Given the description of an element on the screen output the (x, y) to click on. 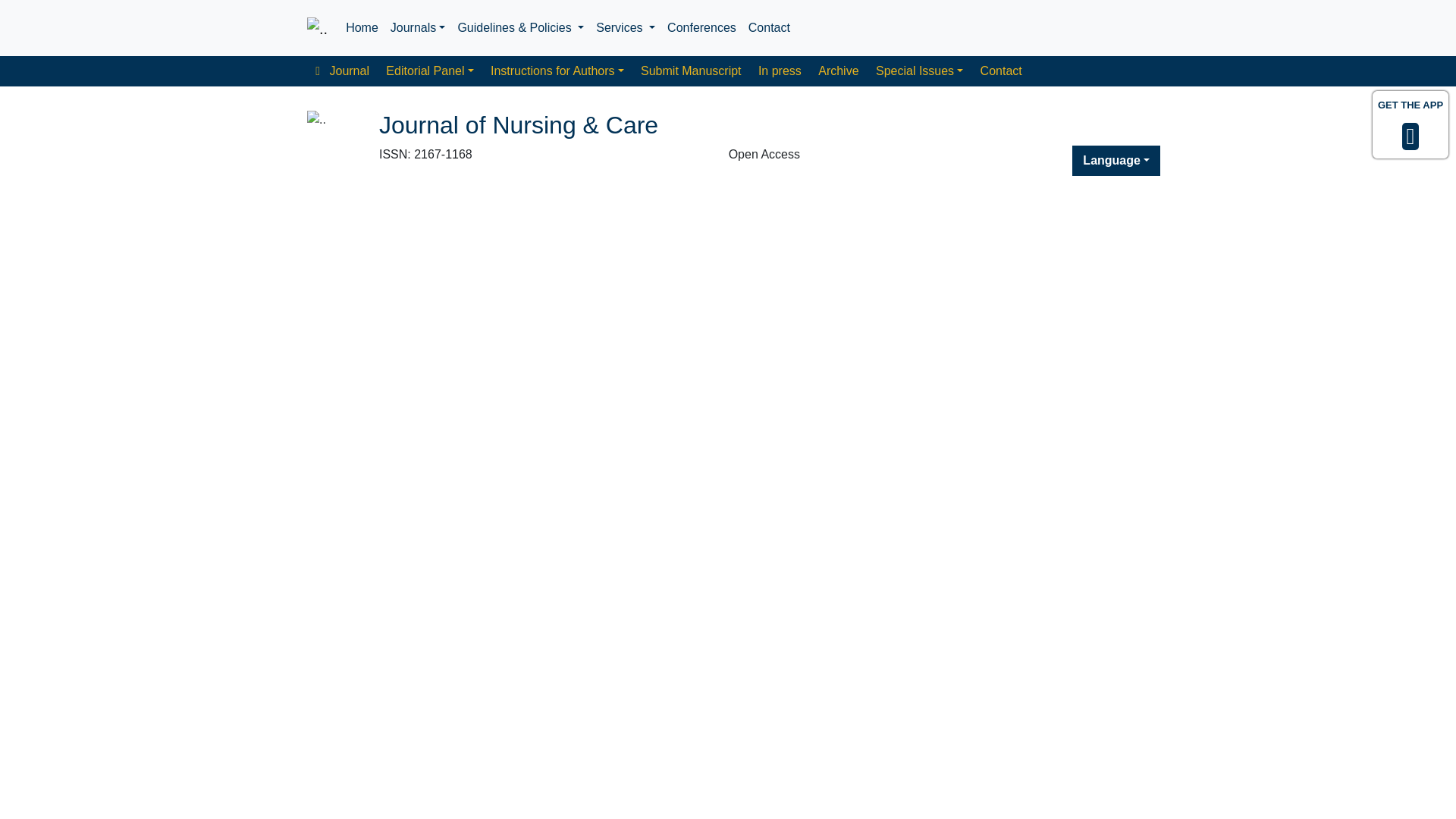
Journal Home (342, 71)
Click here (317, 28)
Submit Manuscript (690, 71)
Conferences (701, 28)
Language (1115, 160)
Contact (1000, 71)
Contact (769, 28)
Services (625, 28)
In press (779, 71)
Archive (838, 71)
